Given the description of an element on the screen output the (x, y) to click on. 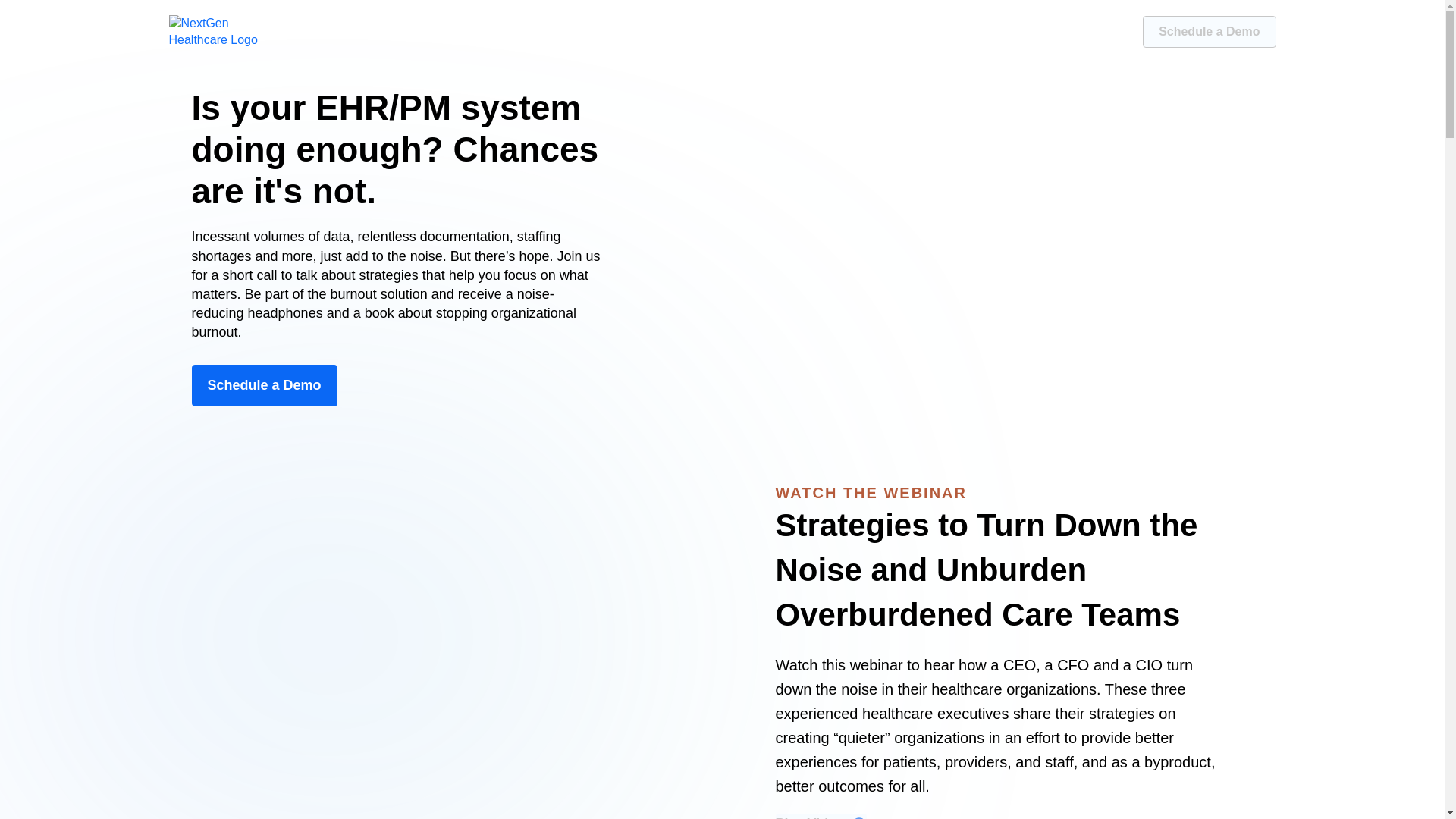
Schedule a Demo (1208, 31)
Play Video (820, 816)
Schedule a Demo (263, 385)
